Given the description of an element on the screen output the (x, y) to click on. 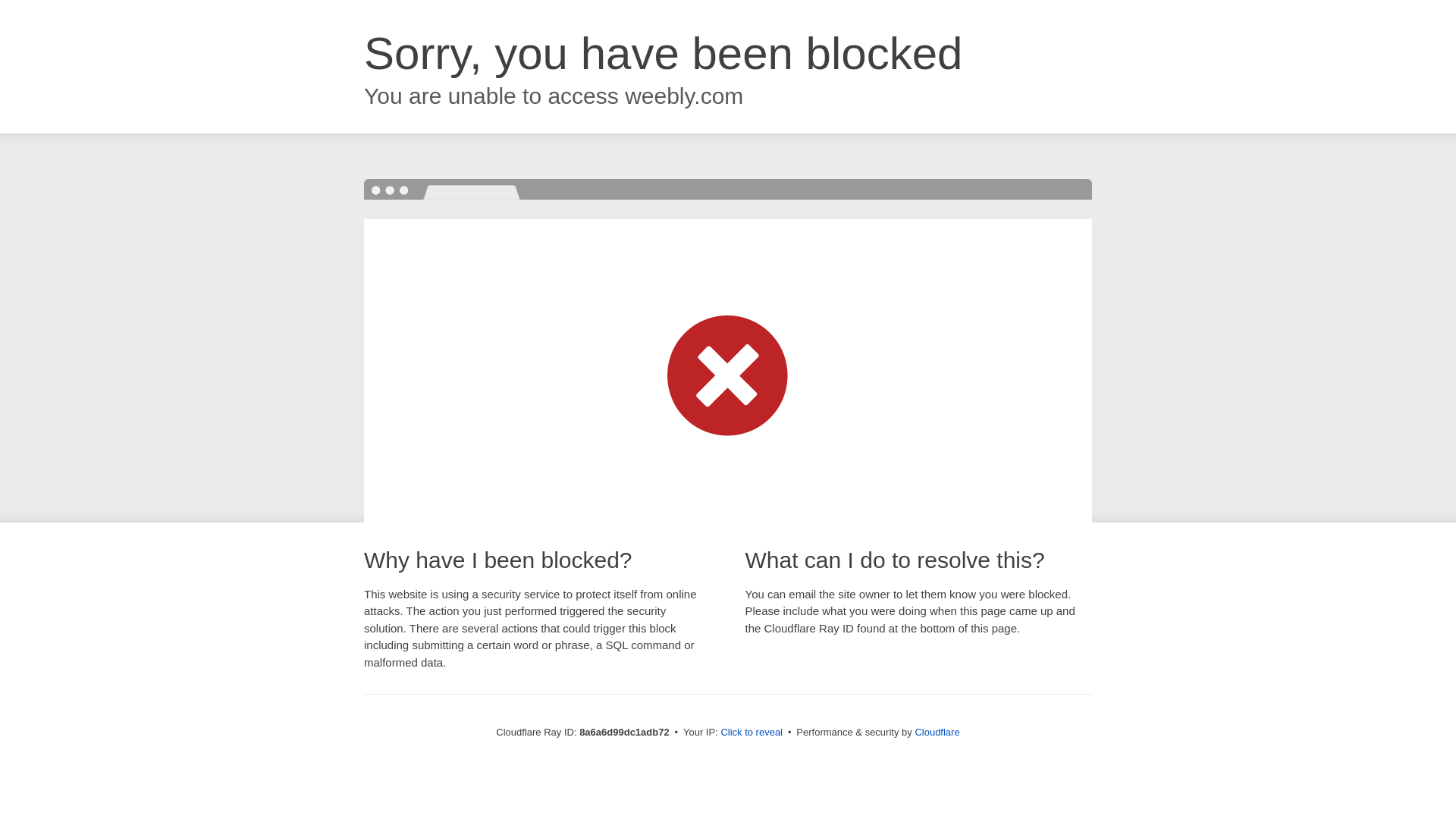
Click to reveal (751, 732)
Cloudflare (936, 731)
